Given the description of an element on the screen output the (x, y) to click on. 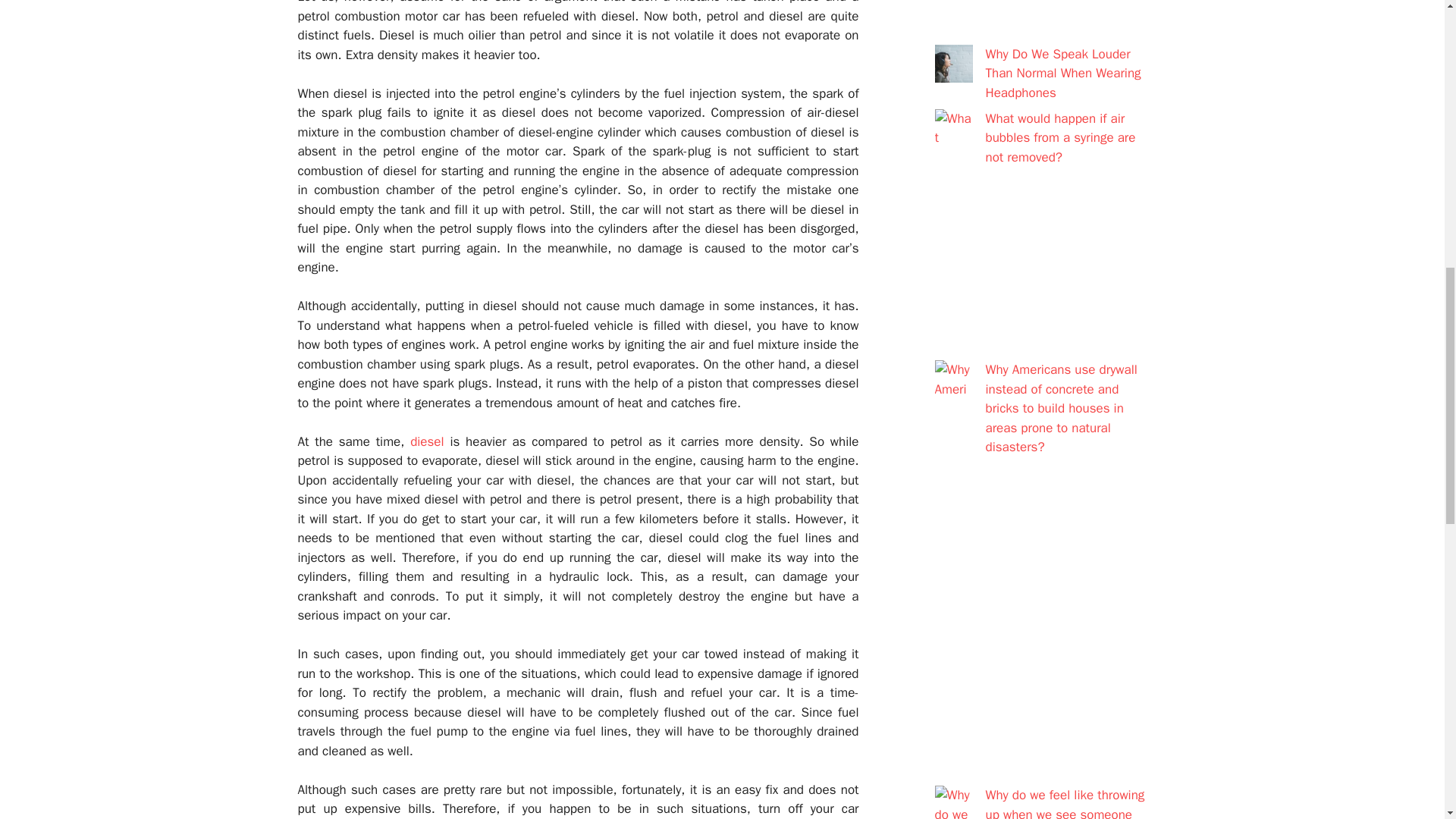
Why Do We Speak Louder Than Normal When Wearing Headphones (1063, 72)
diesel (427, 441)
